Given the description of an element on the screen output the (x, y) to click on. 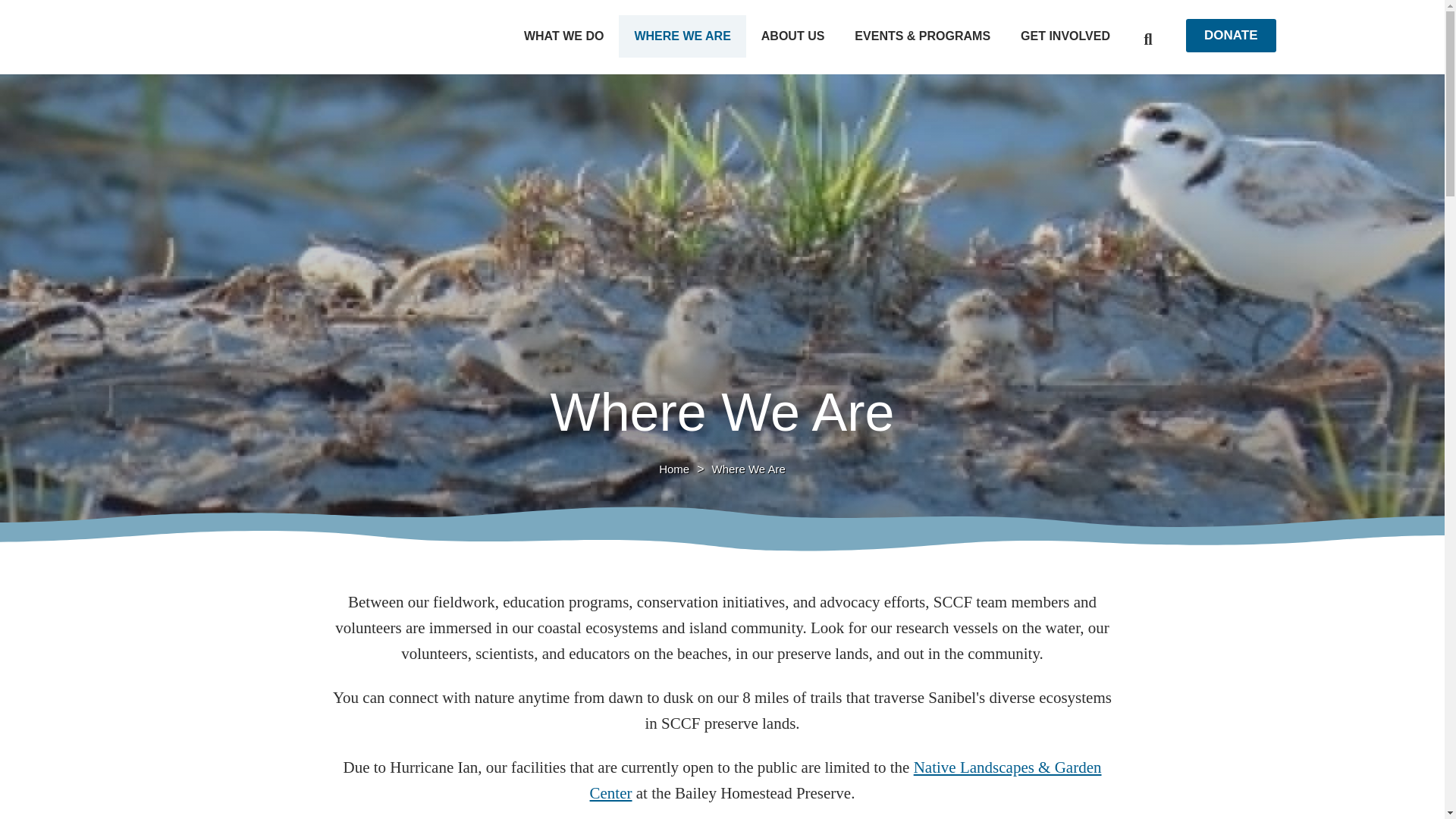
DONATE (1231, 35)
WHAT WE DO (563, 36)
